Given the description of an element on the screen output the (x, y) to click on. 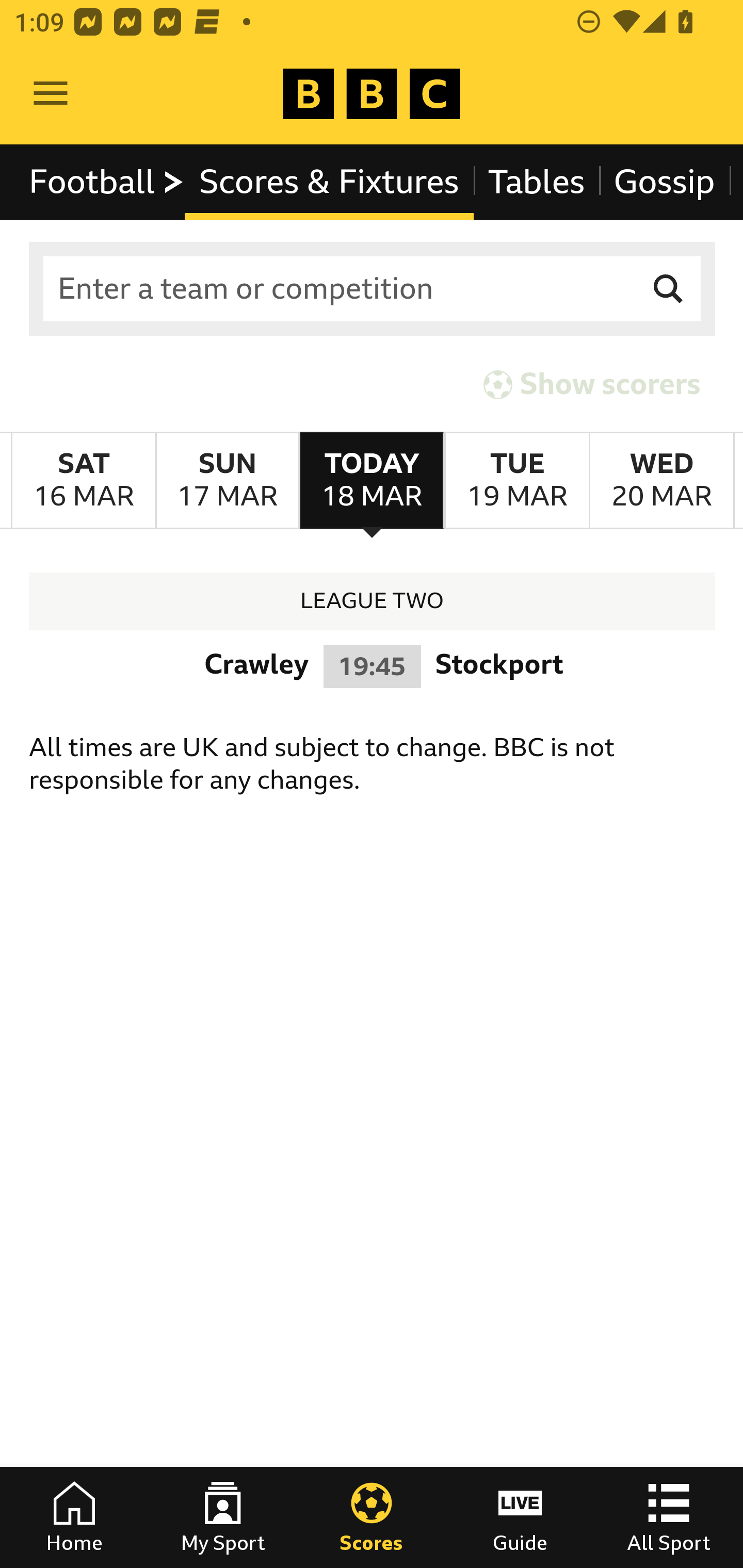
Open Menu (50, 93)
Football  (106, 181)
Scores & Fixtures (329, 181)
Tables (536, 181)
Gossip (664, 181)
Search (669, 289)
Show scorers (591, 383)
SaturdayMarch 16th Saturday March 16th (83, 480)
SundayMarch 17th Sunday March 17th (227, 480)
TuesdayMarch 19th Tuesday March 19th (516, 480)
WednesdayMarch 20th Wednesday March 20th (661, 480)
Home (74, 1517)
My Sport (222, 1517)
Guide (519, 1517)
All Sport (668, 1517)
